Given the description of an element on the screen output the (x, y) to click on. 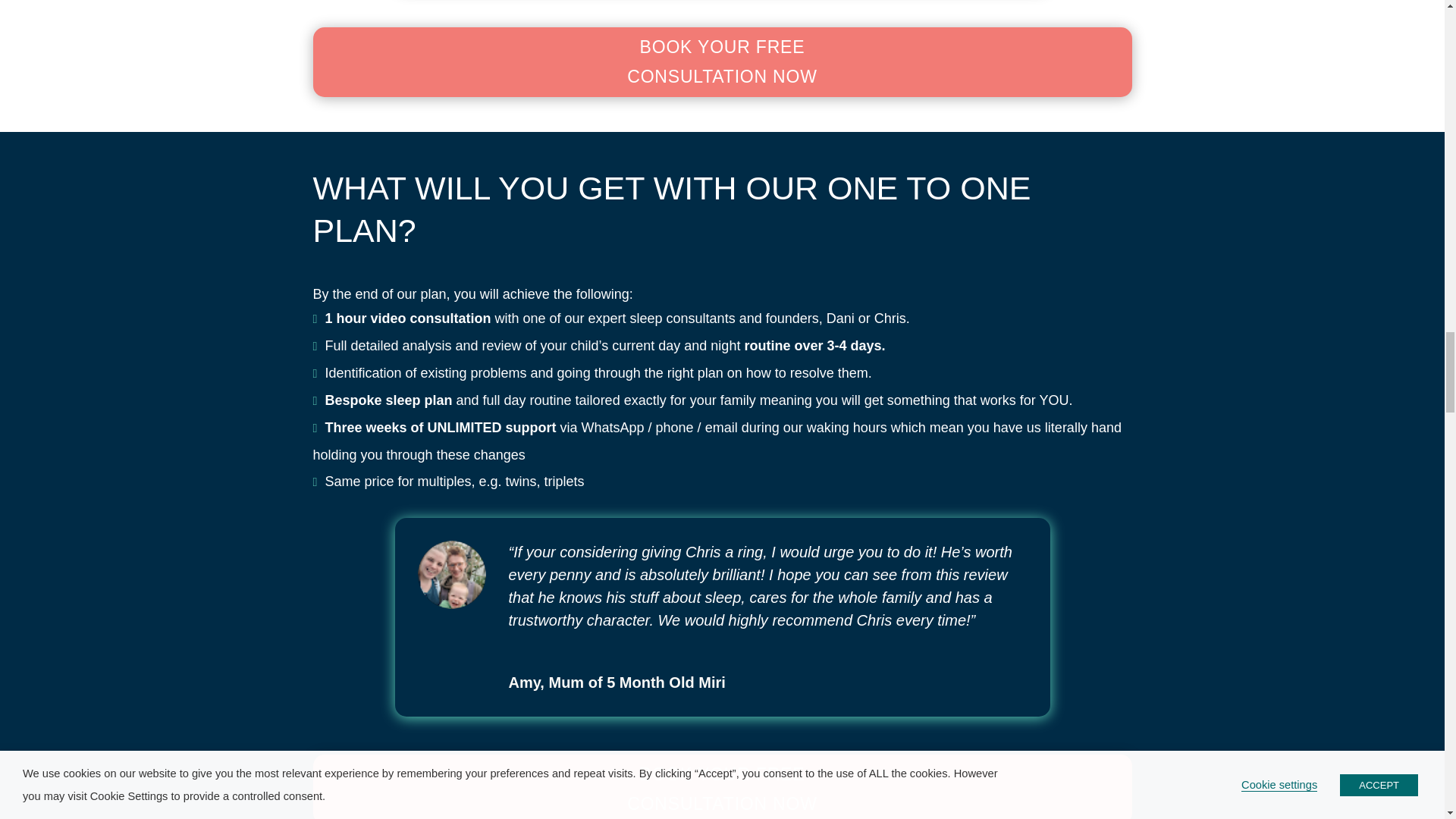
BOOK YOUR FREE CONSULTATION NOW (722, 786)
BOOK YOUR FREE CONSULTATION NOW (722, 62)
